Given the description of an element on the screen output the (x, y) to click on. 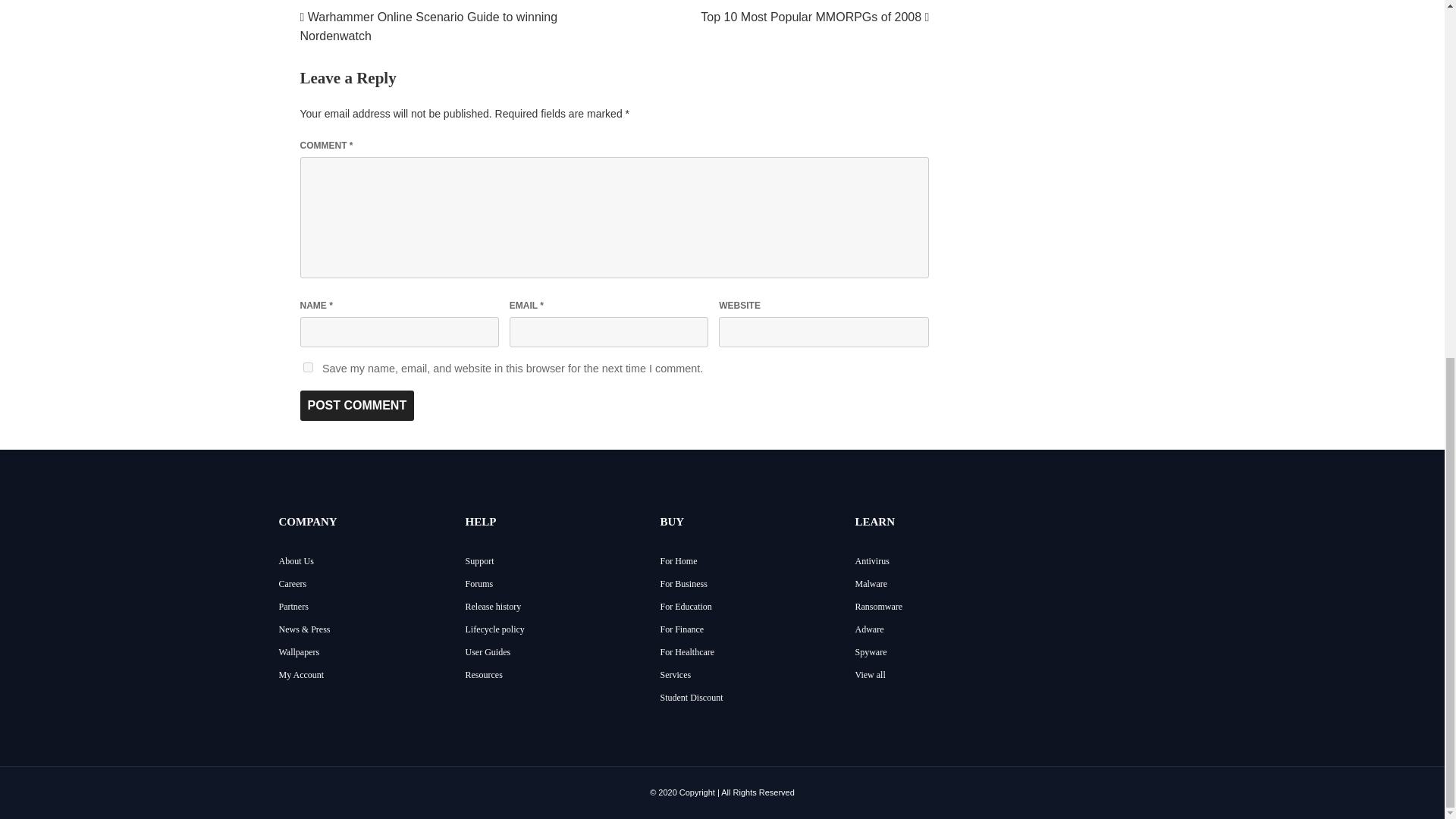
yes (307, 367)
Warhammer Online Scenario Guide to winning Nordenwatch (428, 26)
Post Comment (356, 405)
